Given the description of an element on the screen output the (x, y) to click on. 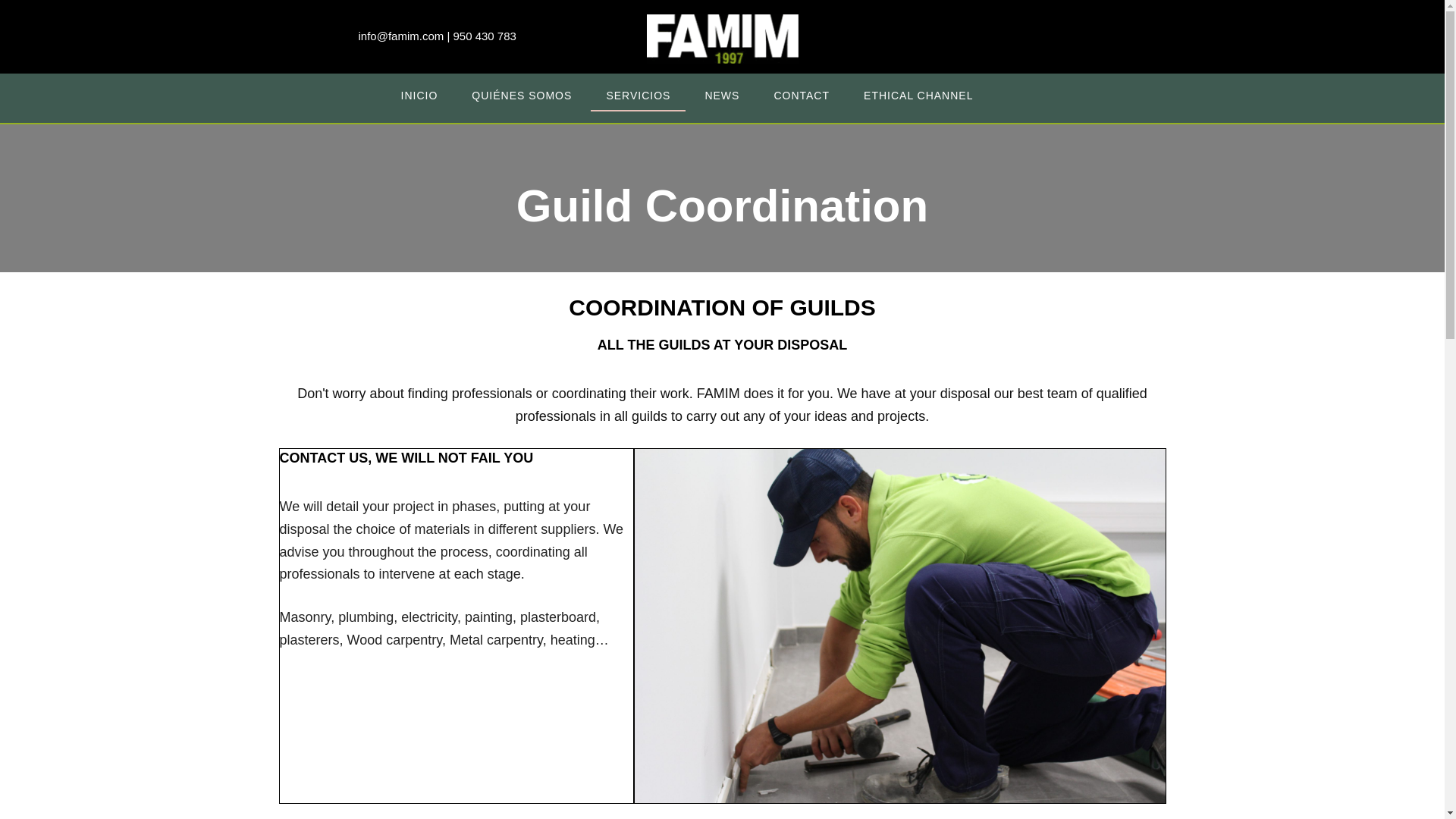
CONTACT (801, 93)
SERVICIOS (638, 93)
English (1031, 96)
INICIO (418, 93)
ETHICAL CHANNEL (918, 93)
NEWS (721, 93)
